Given the description of an element on the screen output the (x, y) to click on. 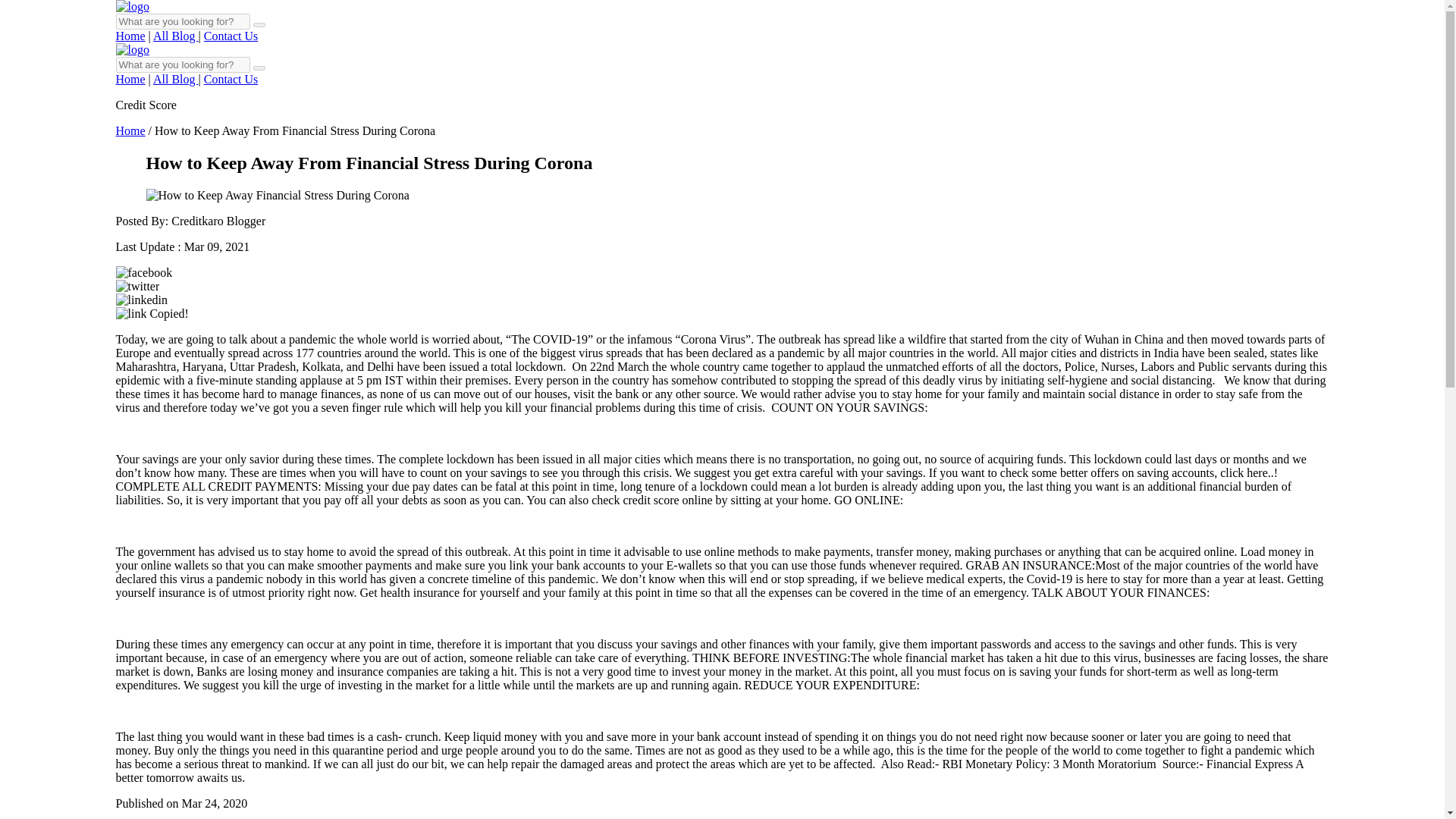
Home (129, 130)
Contact Us (231, 78)
Home (129, 78)
blogsearchmob (258, 68)
Home (129, 130)
blogsearchweb (258, 24)
All Blog (175, 35)
All Blog (175, 78)
Contact Us (231, 35)
Home (129, 35)
